Given the description of an element on the screen output the (x, y) to click on. 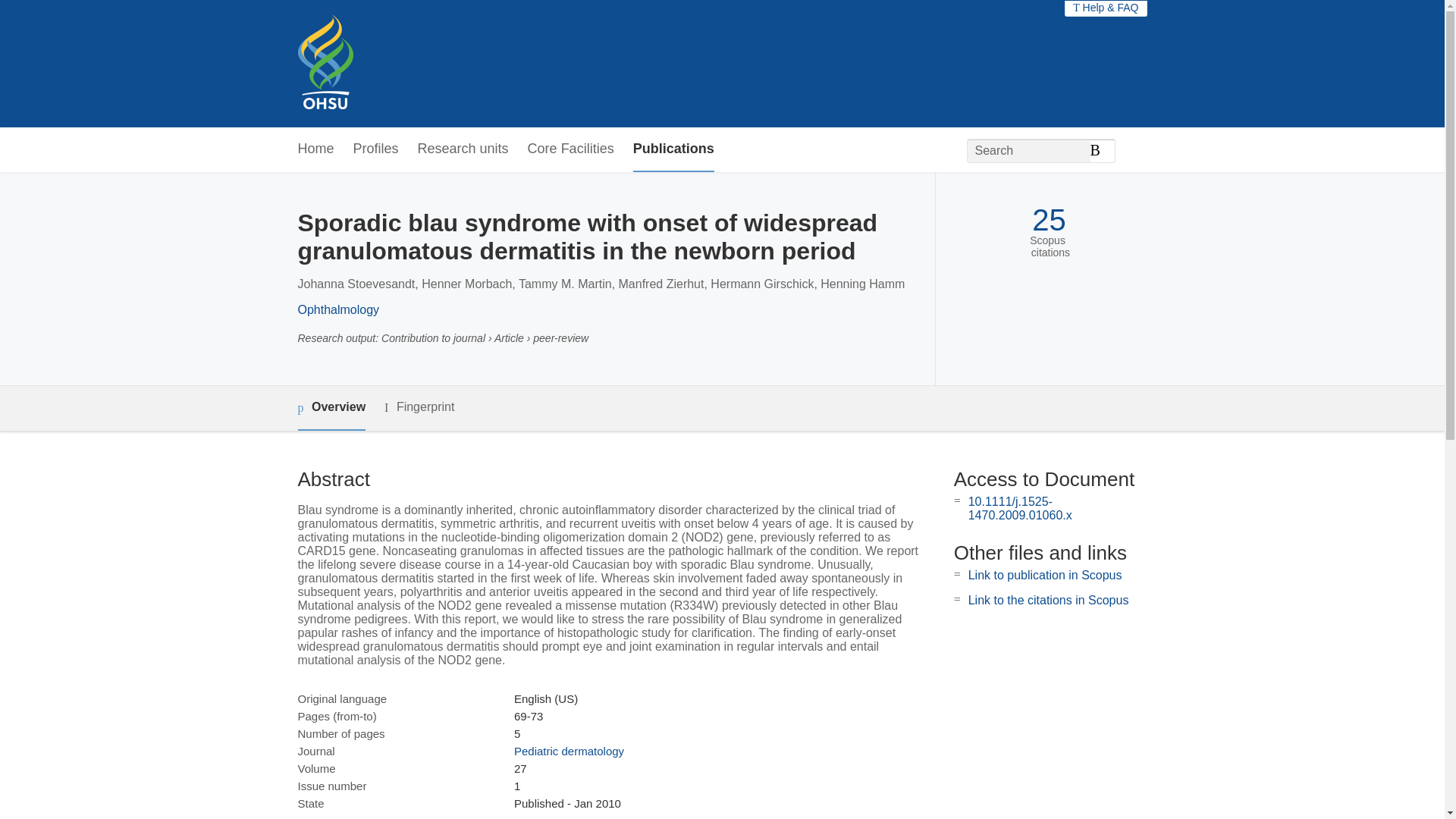
Pediatric dermatology (568, 750)
Core Facilities (570, 149)
Publications (673, 149)
25 (1048, 220)
Research units (462, 149)
Profiles (375, 149)
Fingerprint (419, 407)
Ophthalmology (337, 309)
Link to the citations in Scopus (1048, 599)
